Given the description of an element on the screen output the (x, y) to click on. 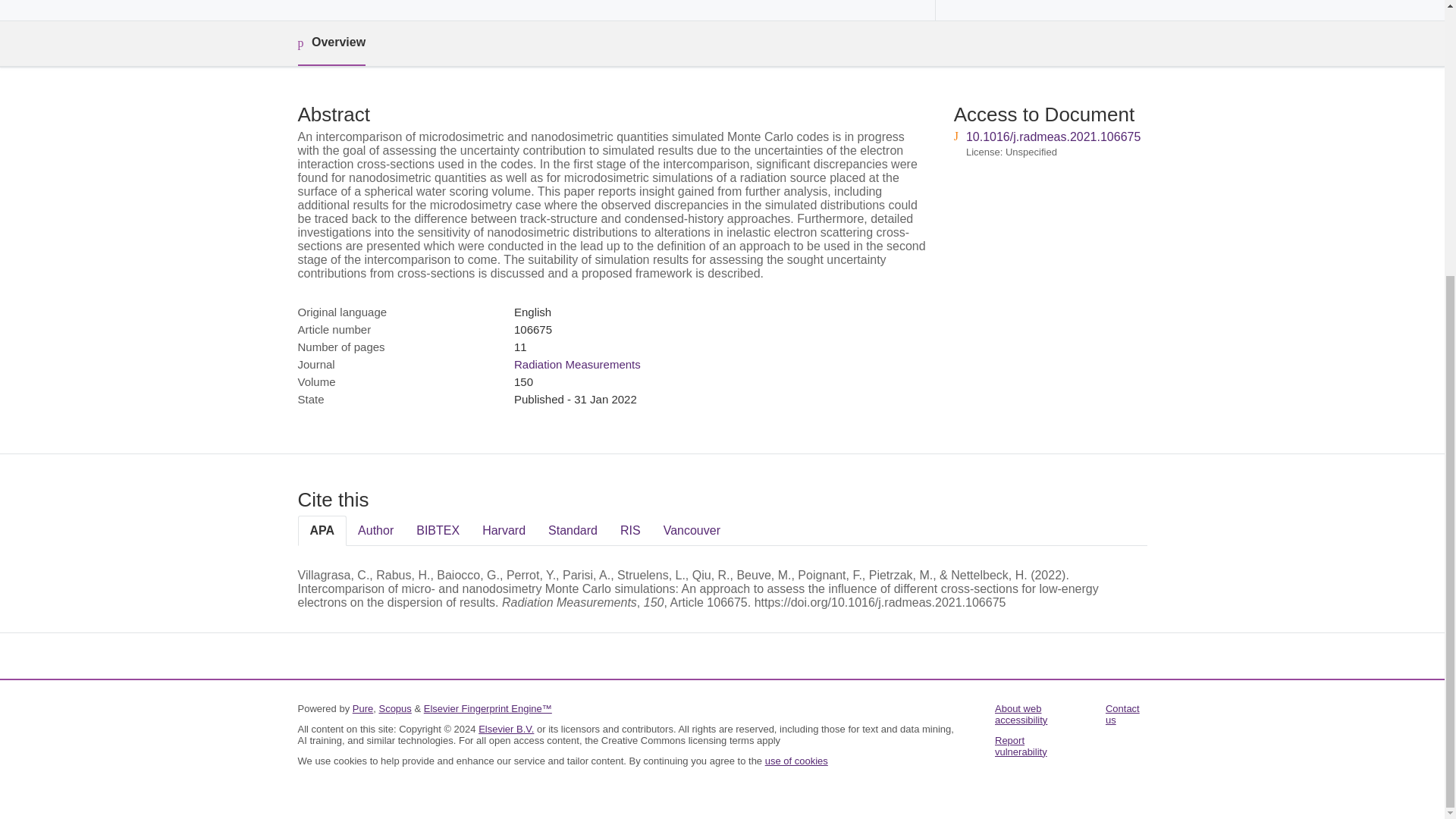
Contact us (1122, 713)
Scopus (394, 708)
Overview (331, 43)
Radiation Measurements (576, 364)
use of cookies (796, 760)
Elsevier B.V. (506, 728)
Report vulnerability (1020, 745)
Pure (362, 708)
About web accessibility (1020, 713)
